Given the description of an element on the screen output the (x, y) to click on. 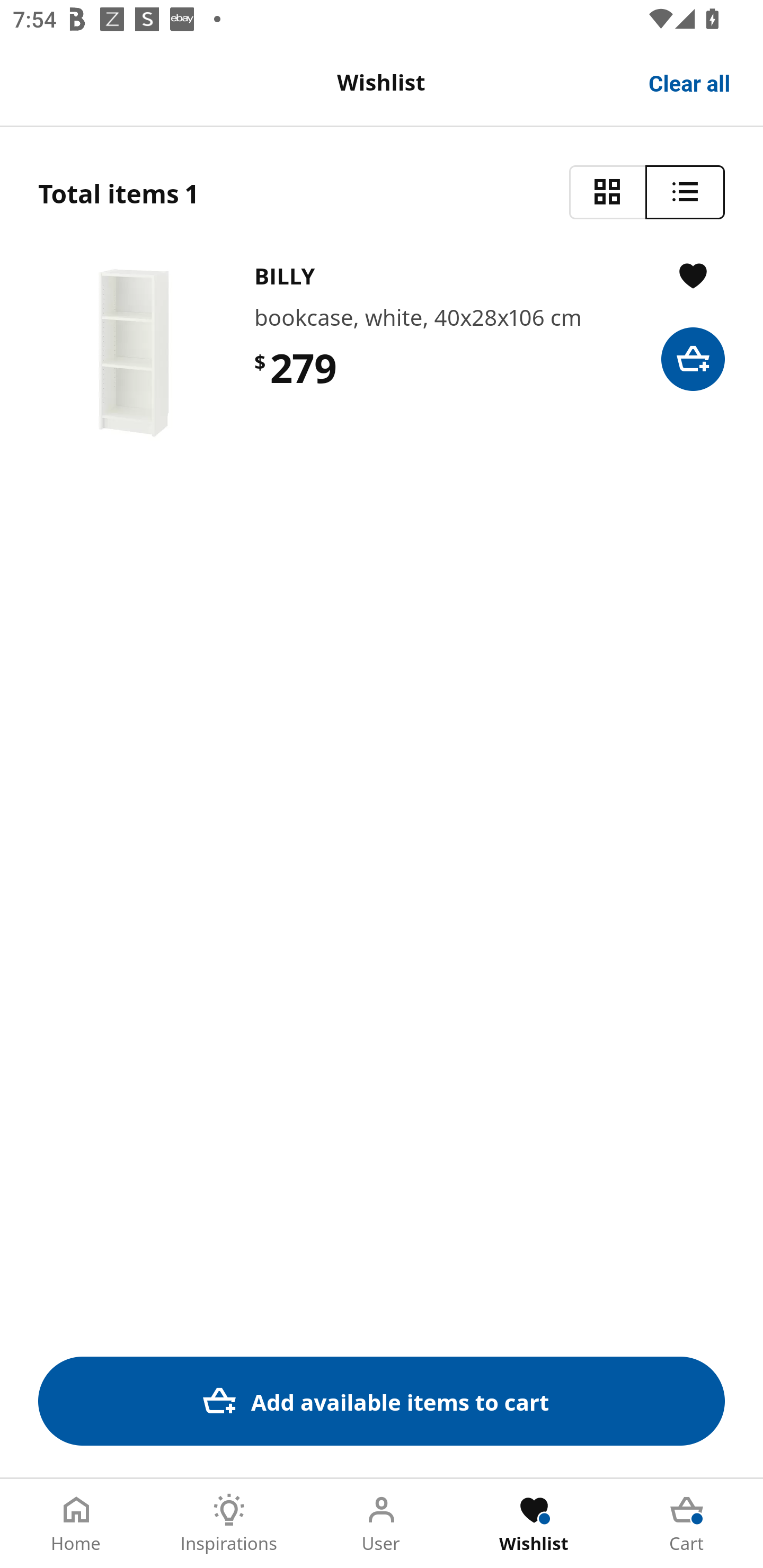
Clear all (689, 81)
​B​I​L​L​Y​
bookcase, white, 40x28x106 cm
$
279 (381, 352)
Add available items to cart (381, 1400)
Home
Tab 1 of 5 (76, 1522)
Inspirations
Tab 2 of 5 (228, 1522)
User
Tab 3 of 5 (381, 1522)
Wishlist
Tab 4 of 5 (533, 1522)
Cart
Tab 5 of 5 (686, 1522)
